Given the description of an element on the screen output the (x, y) to click on. 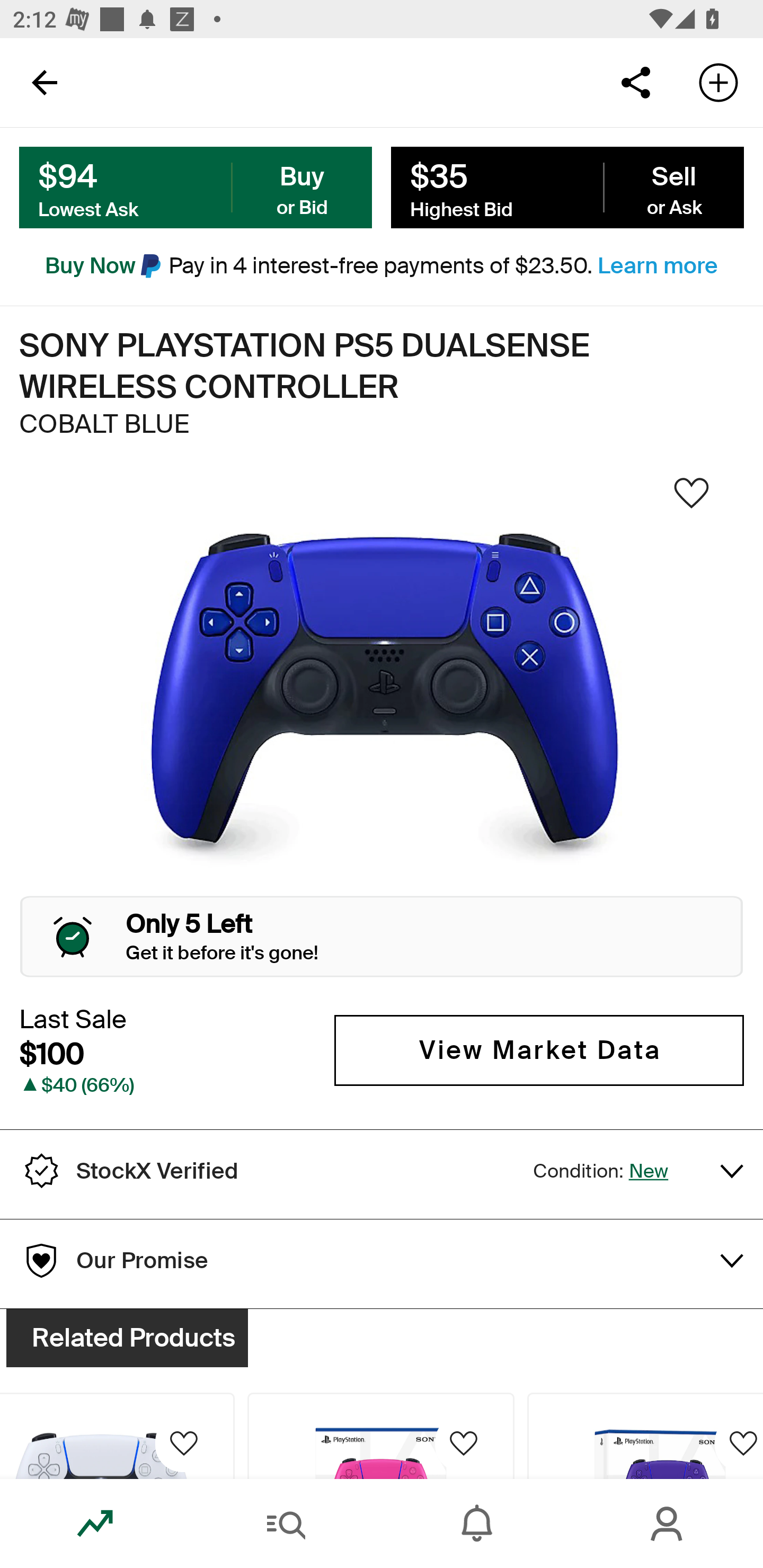
Share (635, 81)
Add (718, 81)
$233 Buy Lowest Ask or Bid (195, 187)
$219 Sell Highest Bid or Ask (566, 187)
Sneaker Image (381, 698)
View Market Data (538, 1050)
Search (285, 1523)
Inbox (476, 1523)
Account (667, 1523)
